Given the description of an element on the screen output the (x, y) to click on. 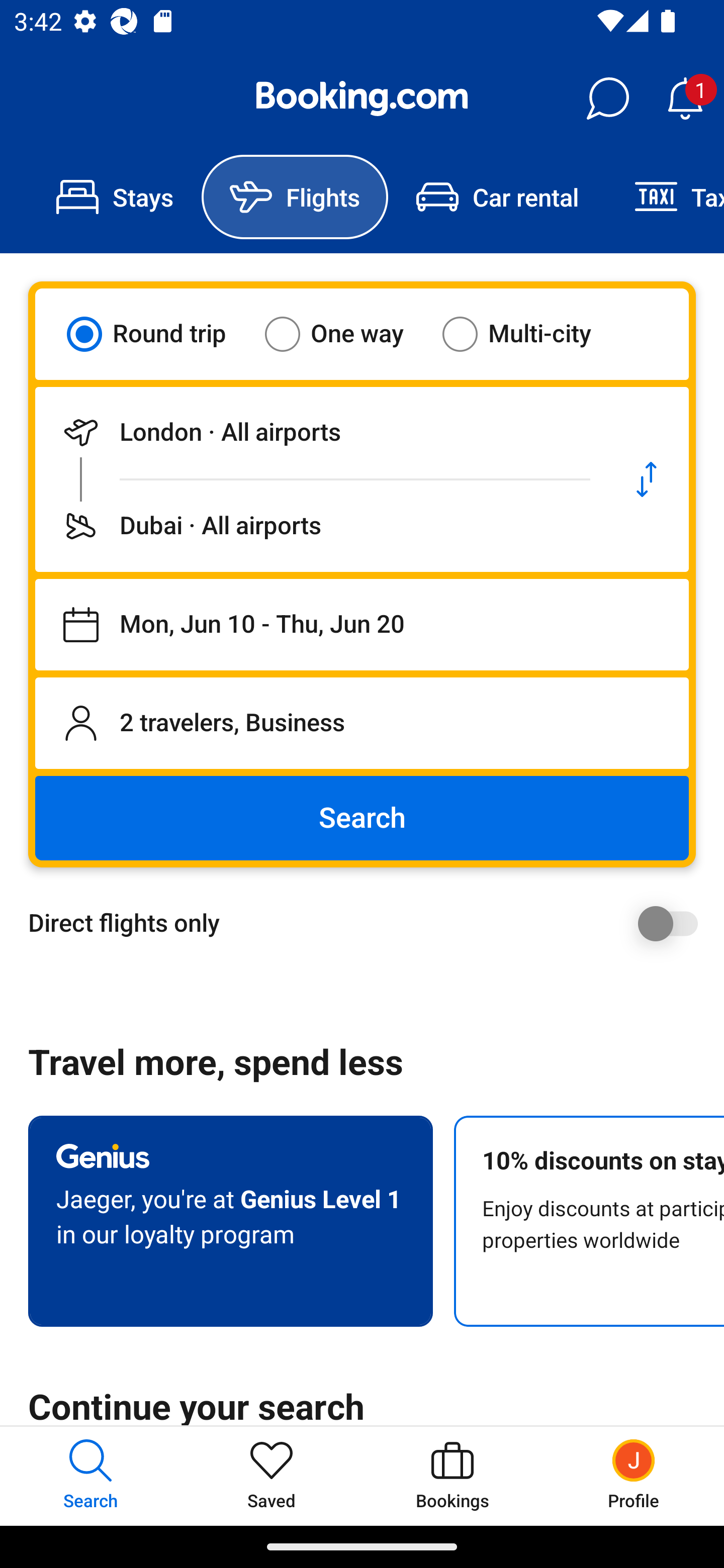
Messages (607, 98)
Notifications (685, 98)
Stays (114, 197)
Flights (294, 197)
Car rental (497, 197)
Taxi (665, 197)
One way (346, 333)
Multi-city (528, 333)
Departing from London · All airports (319, 432)
Swap departure location and destination (646, 479)
Flying to Dubai · All airports (319, 525)
Departing on Mon, Jun 10, returning on Thu, Jun 20 (361, 624)
2 travelers, Business (361, 722)
Search (361, 818)
Direct flights only (369, 923)
Saved (271, 1475)
Bookings (452, 1475)
Profile (633, 1475)
